Given the description of an element on the screen output the (x, y) to click on. 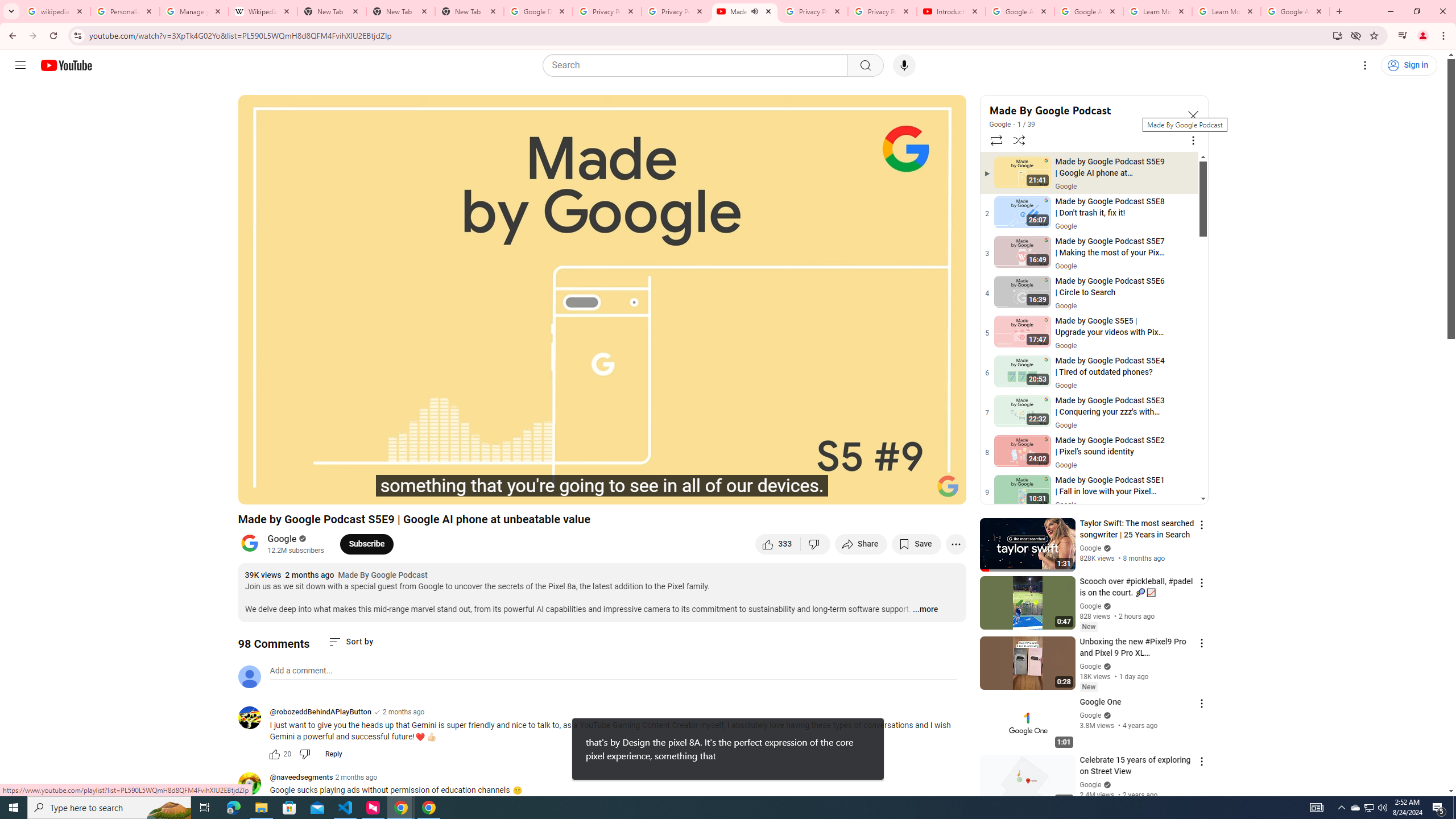
New Tab (469, 11)
More actions (955, 543)
Mute (m) (338, 490)
Loop playlist (995, 140)
